Given the description of an element on the screen output the (x, y) to click on. 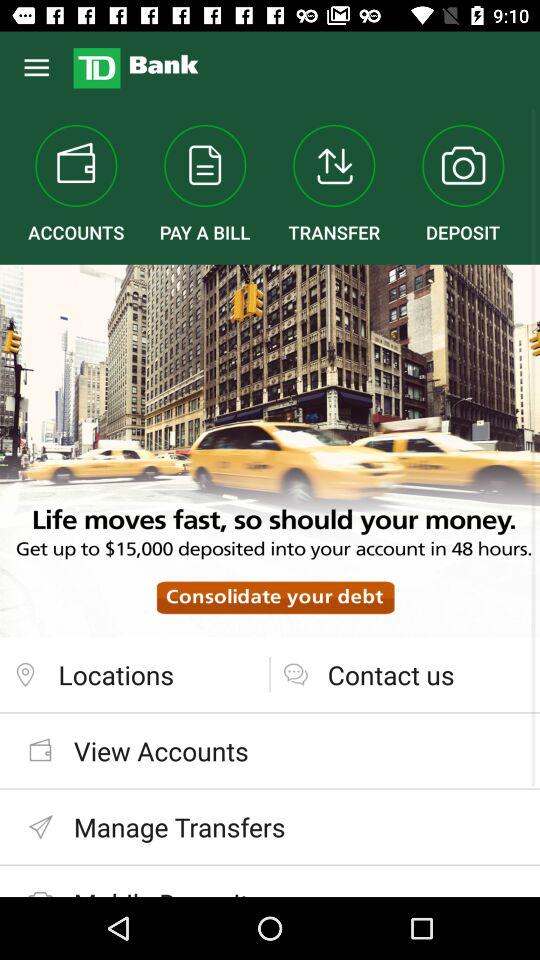
click the locations (134, 674)
